Given the description of an element on the screen output the (x, y) to click on. 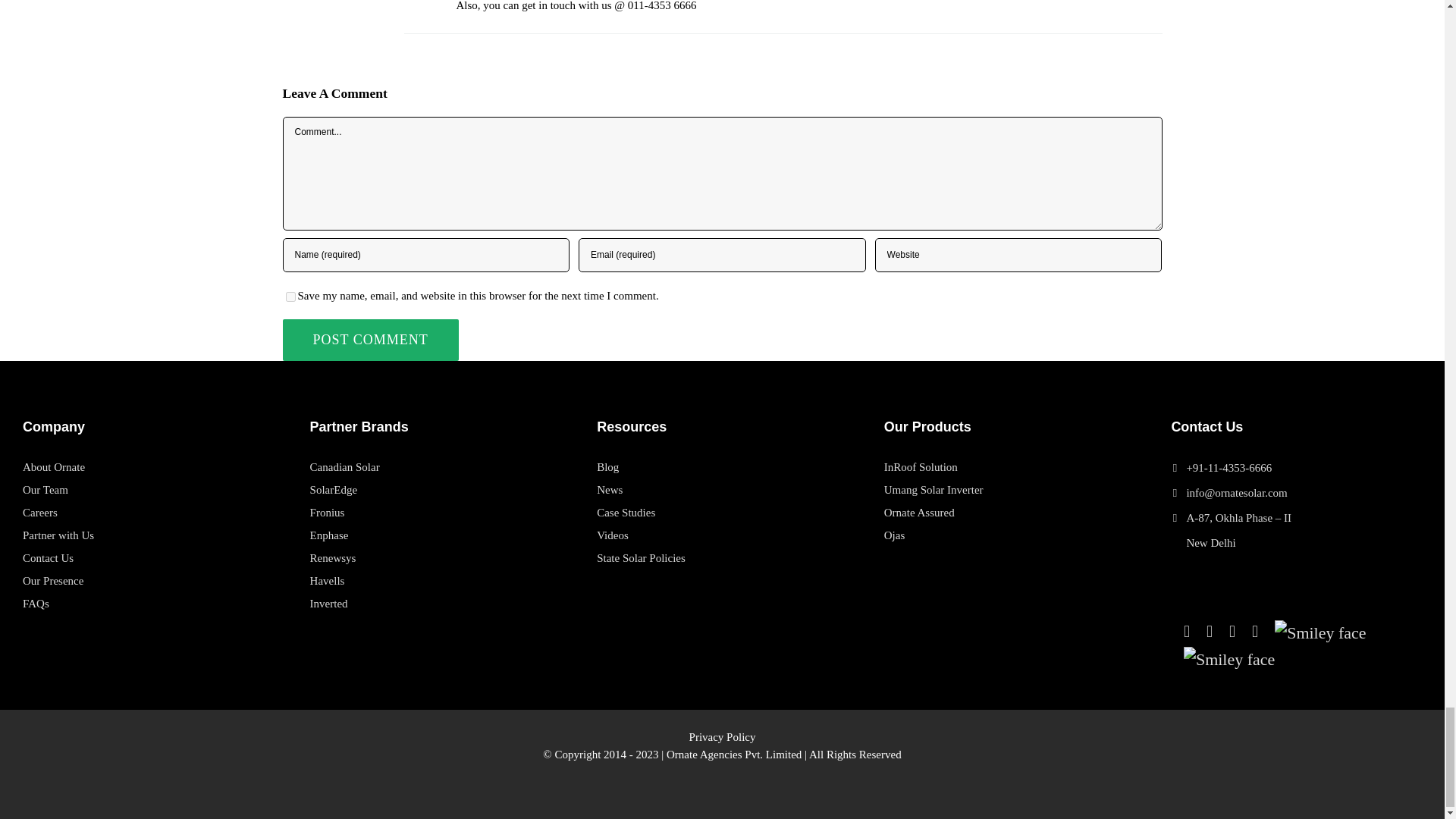
yes (290, 296)
Post Comment (370, 340)
